Given the description of an element on the screen output the (x, y) to click on. 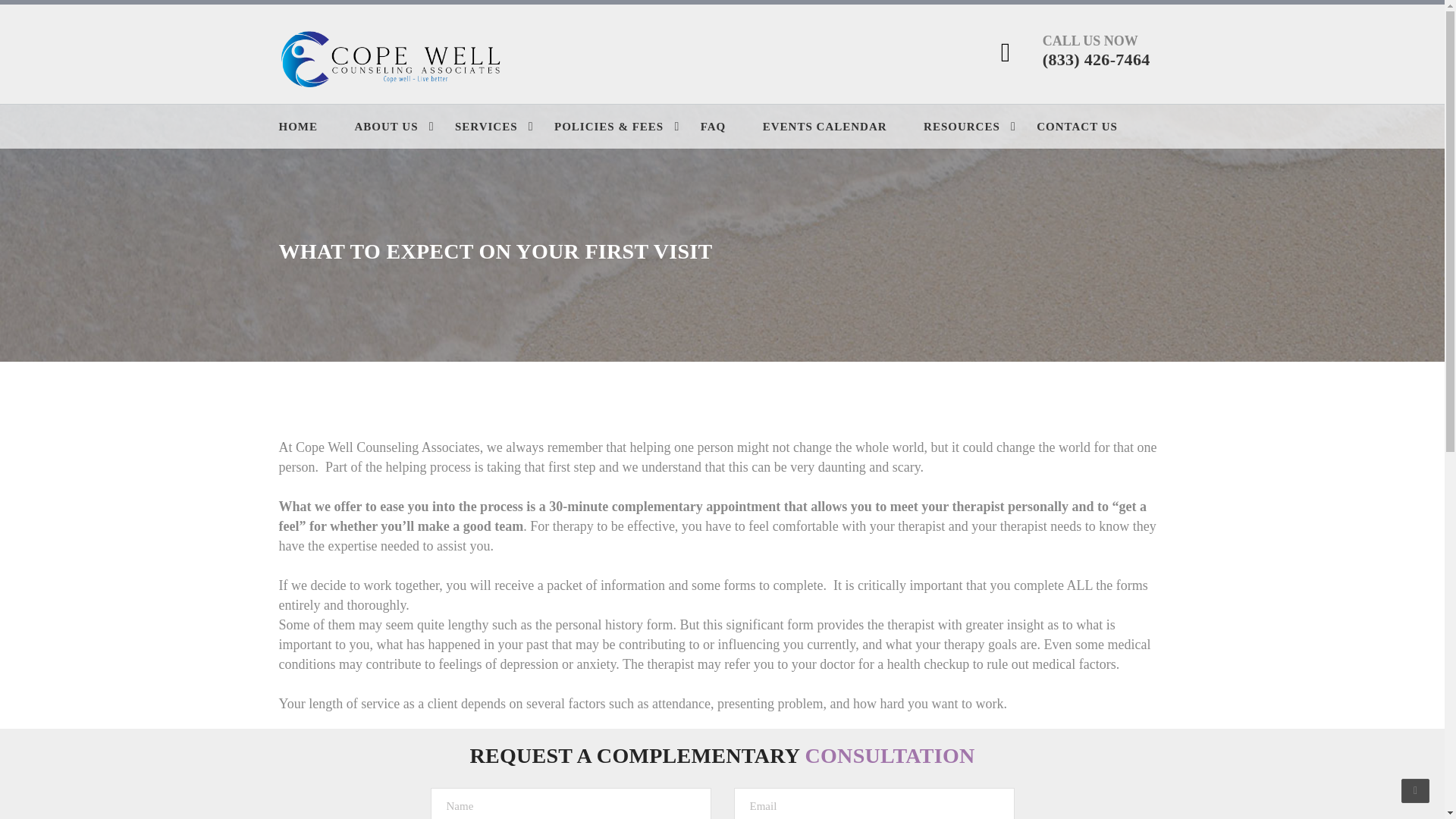
ABOUT US (403, 126)
EVENTS CALENDAR (841, 126)
RESOURCES (978, 126)
CONTACT US (1093, 126)
HOME (315, 126)
SERVICES (502, 126)
FAQ (730, 126)
